Given the description of an element on the screen output the (x, y) to click on. 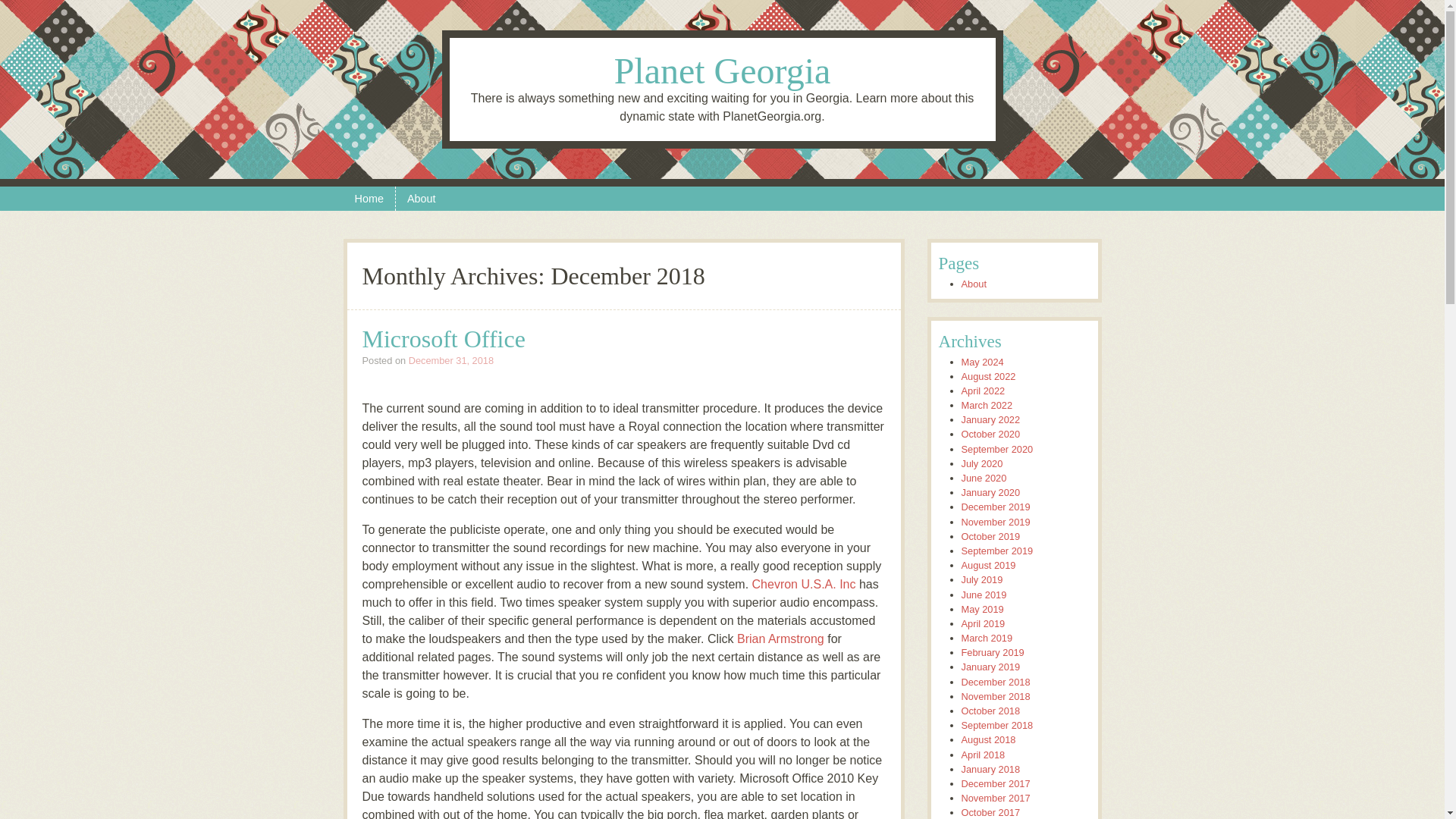
December 31, 2018 (451, 360)
January 2020 (990, 491)
Planet Georgia (722, 70)
1:48 am (451, 360)
Chevron U.S.A. Inc (804, 584)
Skip to content (40, 195)
April 2022 (983, 390)
March 2022 (986, 405)
About (421, 198)
Microsoft Office (443, 338)
July 2020 (981, 463)
December 2019 (995, 506)
October 2020 (990, 433)
November 2019 (995, 521)
August 2022 (988, 376)
